Given the description of an element on the screen output the (x, y) to click on. 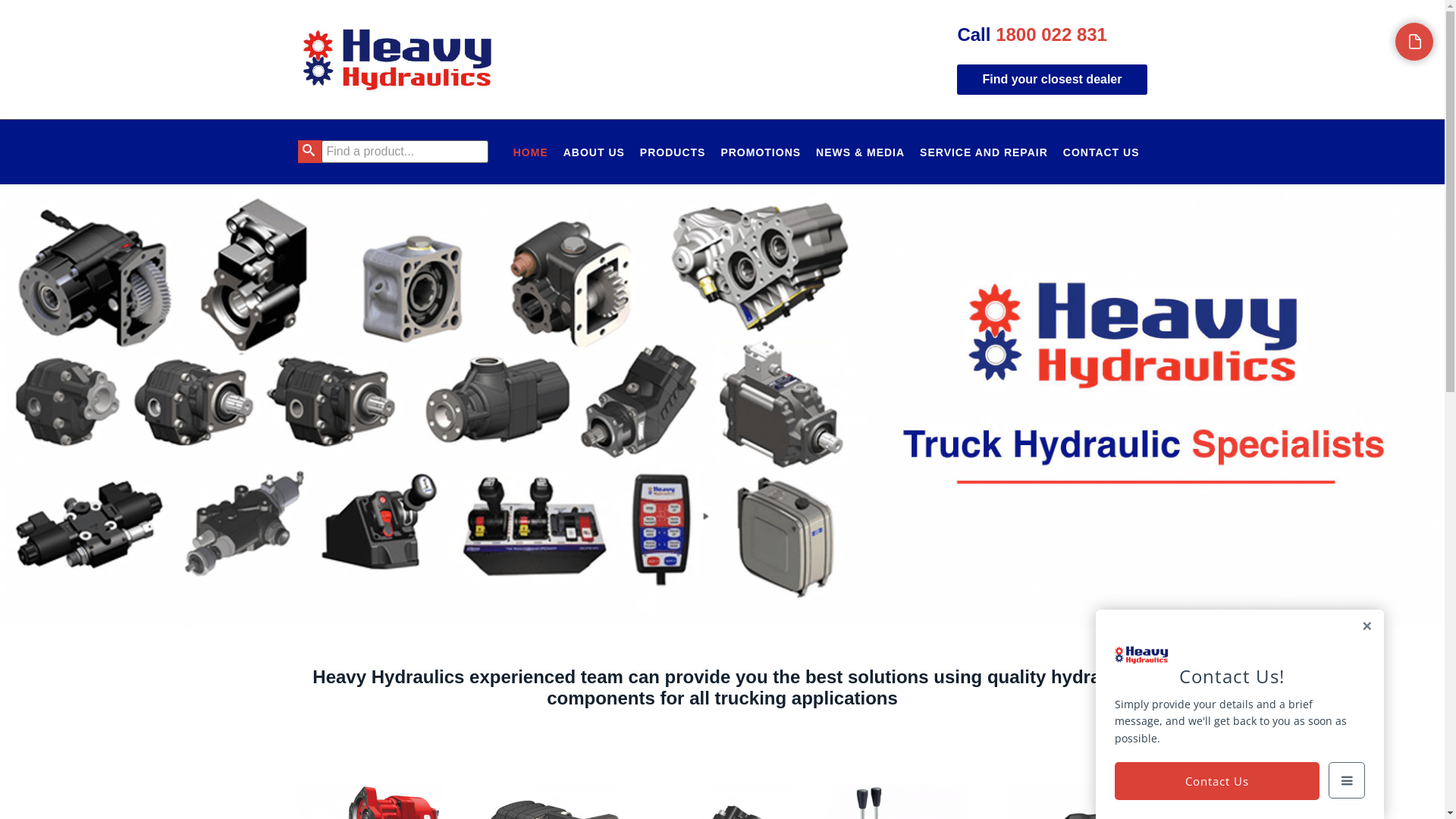
NEWS & MEDIA Element type: text (860, 151)
SERVICE AND REPAIR Element type: text (983, 151)
Find your closest dealer Element type: text (1051, 79)
CONTACT US Element type: text (1101, 151)
PRODUCTS Element type: text (672, 151)
ABOUT US Element type: text (593, 151)
HOME Element type: text (530, 151)
1800 022 831 Element type: text (1051, 34)
Contact Us Element type: text (1216, 781)
PROMOTIONS Element type: text (760, 151)
